Given the description of an element on the screen output the (x, y) to click on. 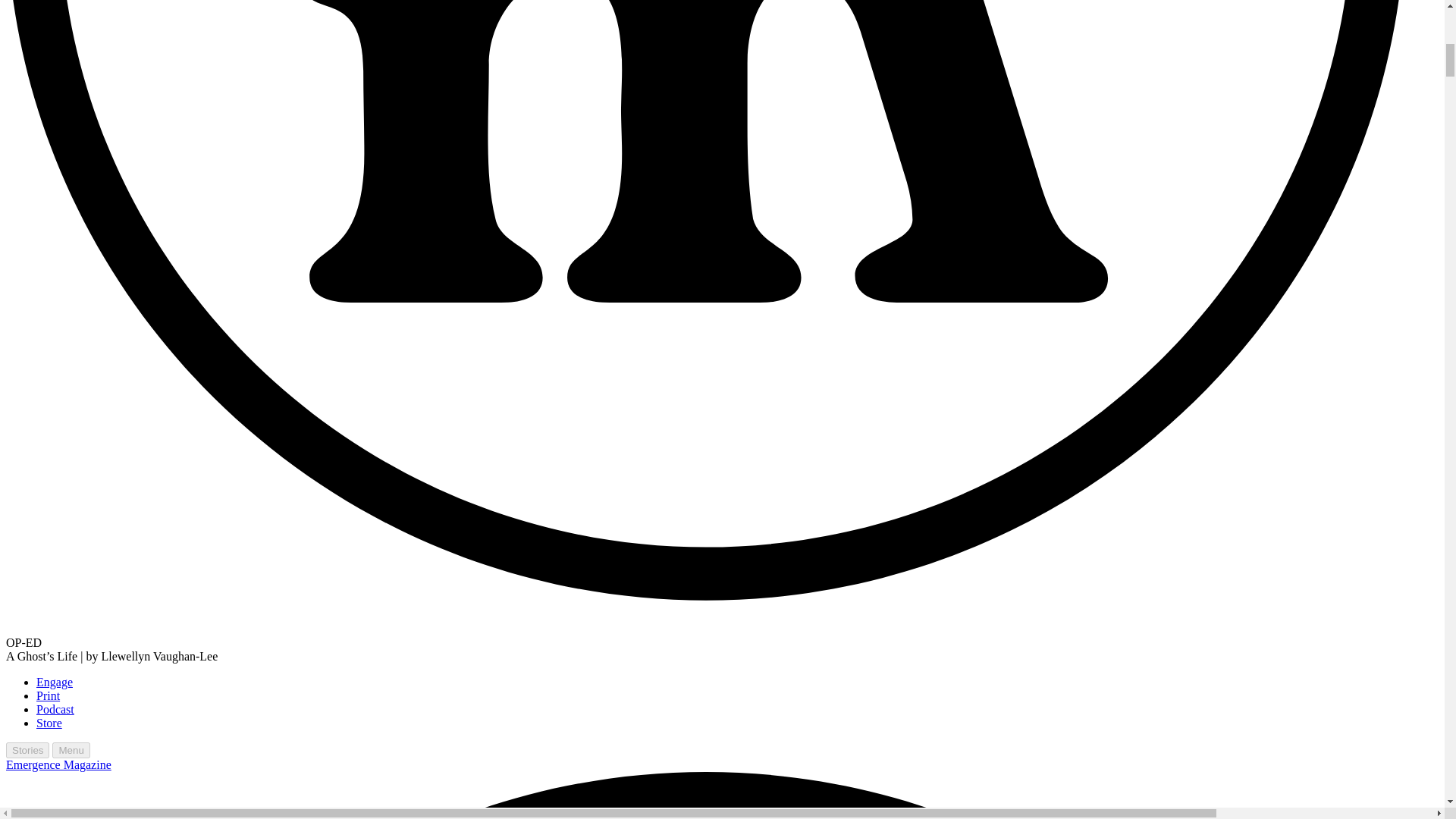
Engage (54, 681)
Emergence Magazine (721, 788)
Podcast (55, 708)
Print (47, 695)
Menu (70, 750)
Stories (27, 750)
Store (49, 722)
